Given the description of an element on the screen output the (x, y) to click on. 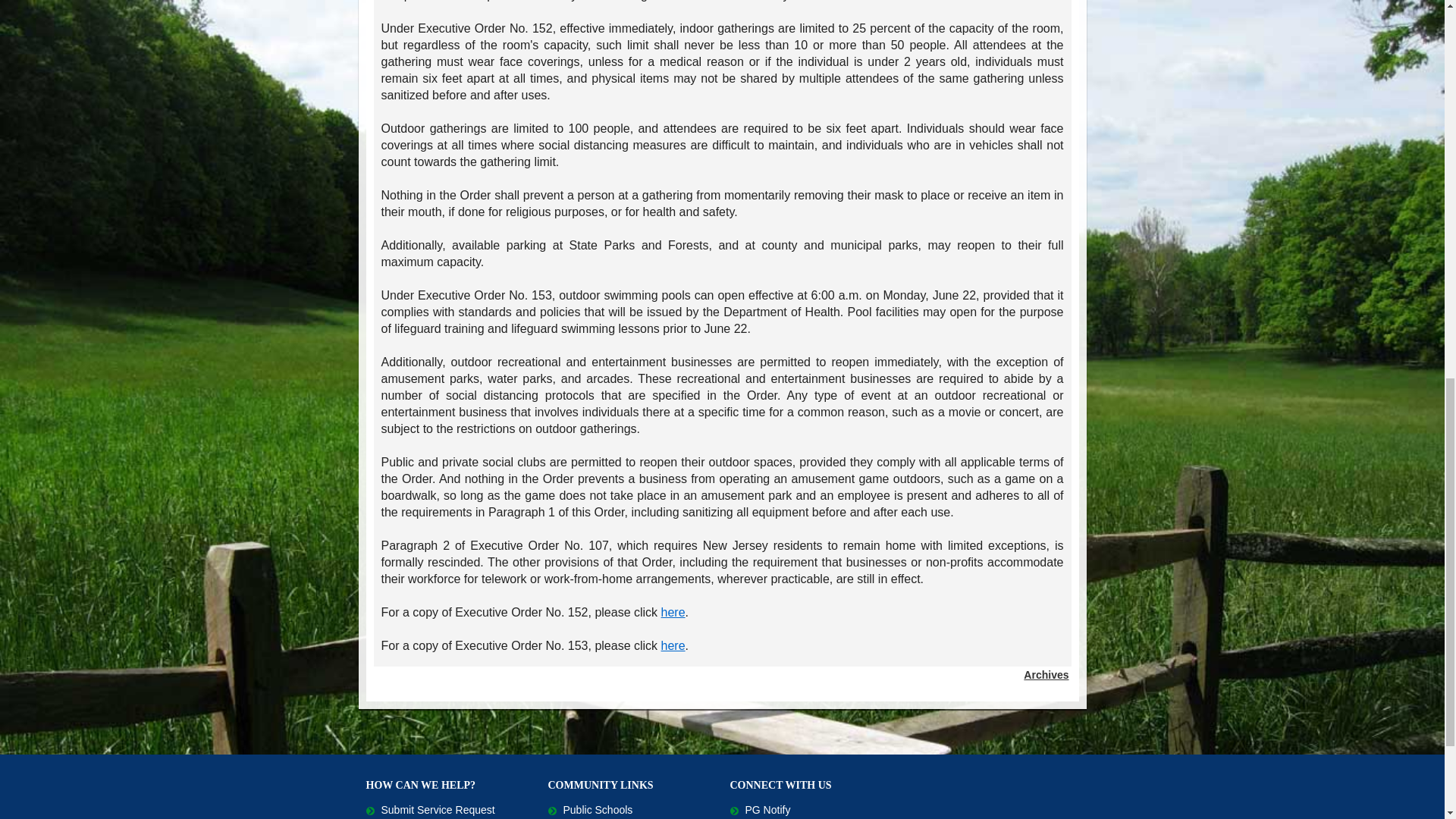
PG Notify (759, 809)
Public Schools (589, 809)
Submit Service Request (430, 809)
Public Schools (589, 809)
Submit a Service Request (430, 809)
here (673, 612)
PG Notify (759, 809)
here (673, 645)
Archives (1045, 674)
